Given the description of an element on the screen output the (x, y) to click on. 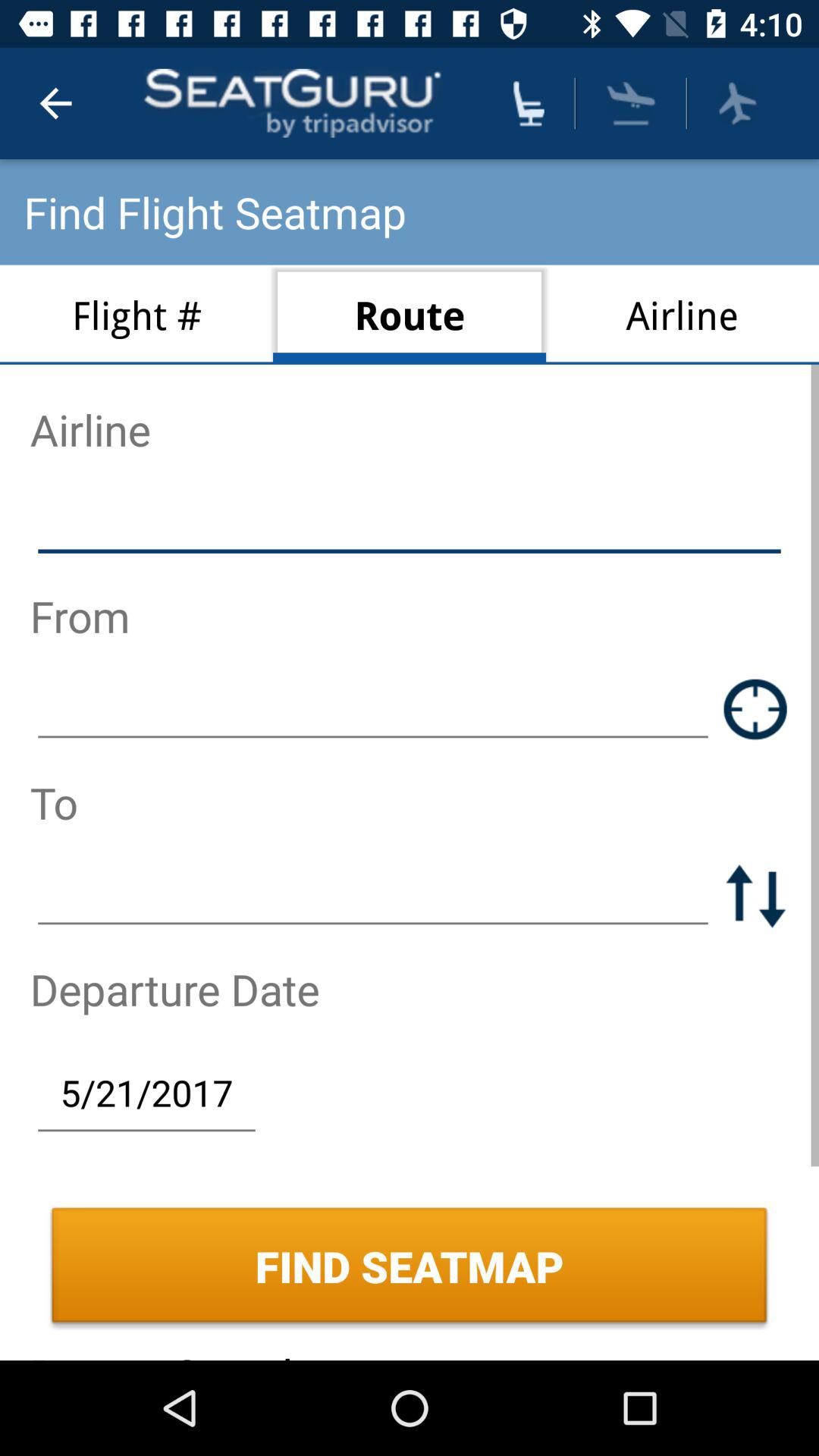
select the item above the find seatmap (146, 1092)
